Given the description of an element on the screen output the (x, y) to click on. 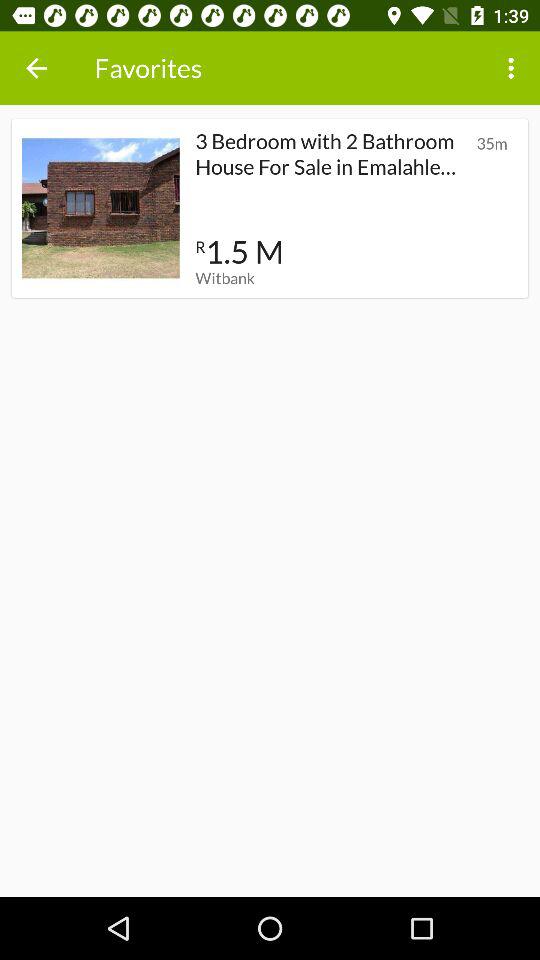
choose the icon to the right of favorites item (513, 67)
